Given the description of an element on the screen output the (x, y) to click on. 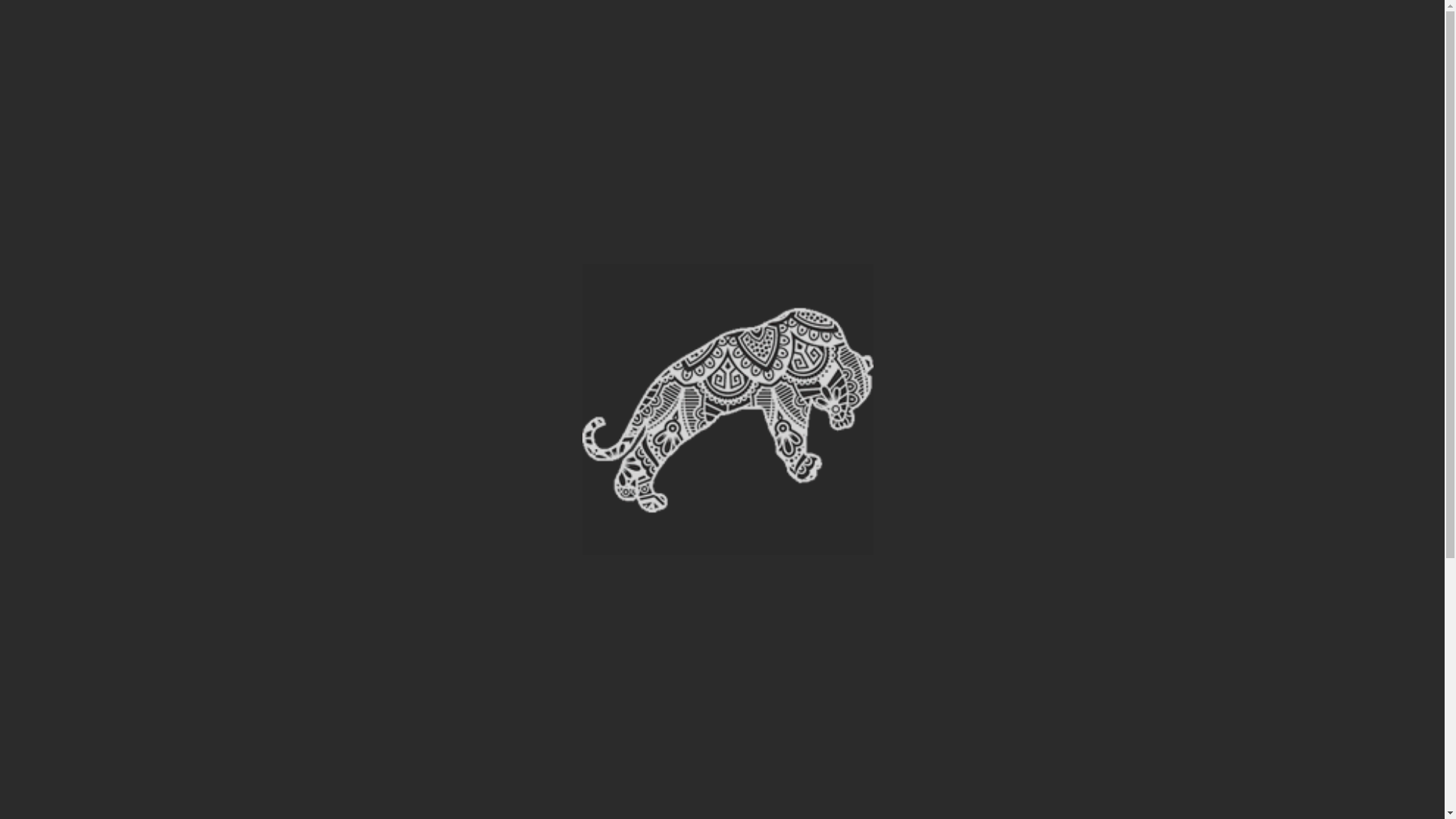
RETREATS (525, 37)
COMPROMISE (981, 37)
Our Compromise (315, 454)
TOURS (616, 37)
ABOUT (434, 37)
Be The First (385, 649)
FAQ (794, 37)
CONTACT (875, 37)
ACTIVITIES (709, 37)
